Given the description of an element on the screen output the (x, y) to click on. 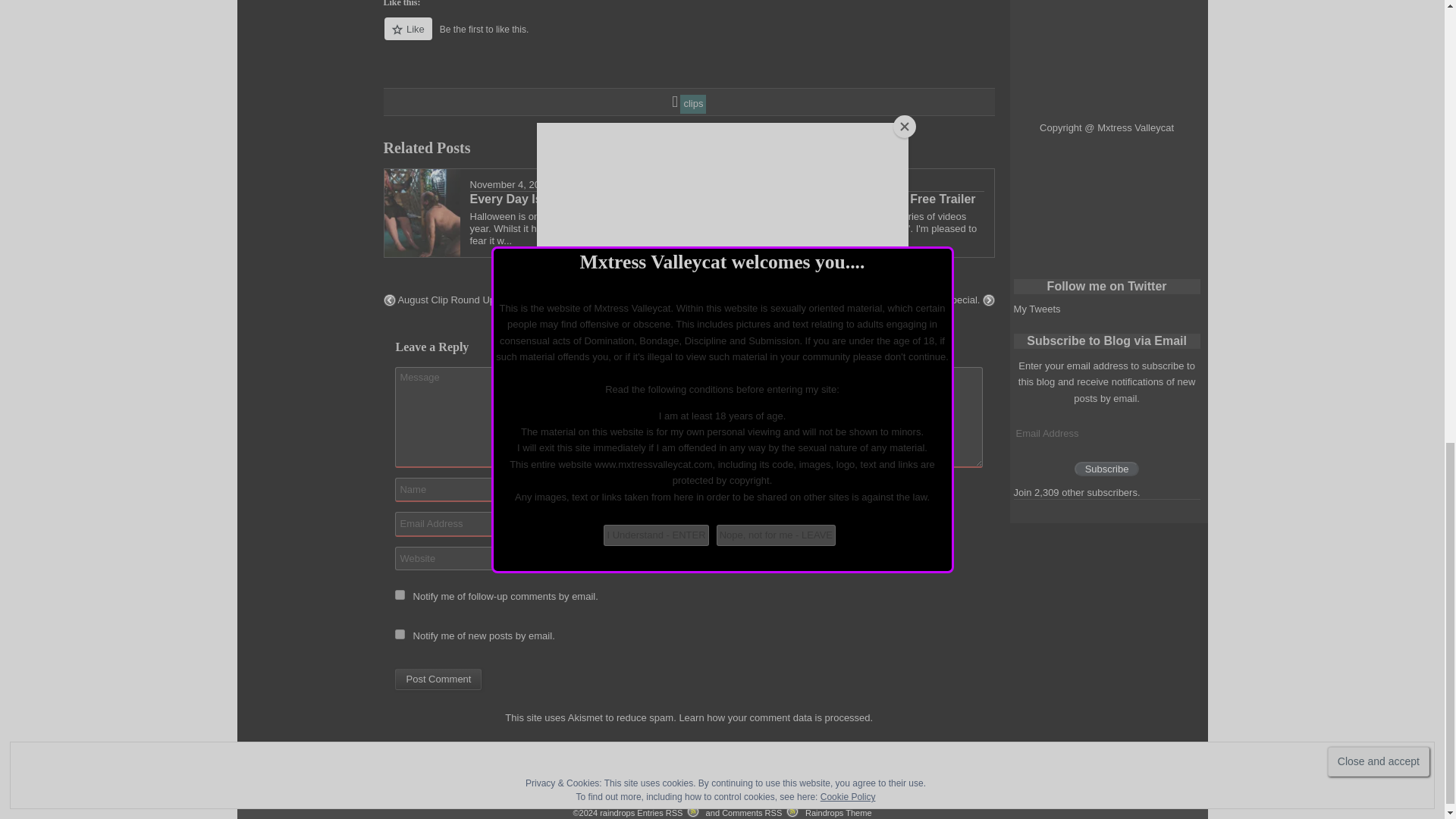
Mxtress Valleycat (591, 184)
November 4, 2017 (510, 184)
subscribe (399, 634)
Required Your Message (688, 416)
subscribe (399, 594)
clips (692, 102)
Post Comment (437, 679)
Required Your Name (493, 489)
Every Day Is Halloween (572, 199)
Required Your Email (493, 523)
